Given the description of an element on the screen output the (x, y) to click on. 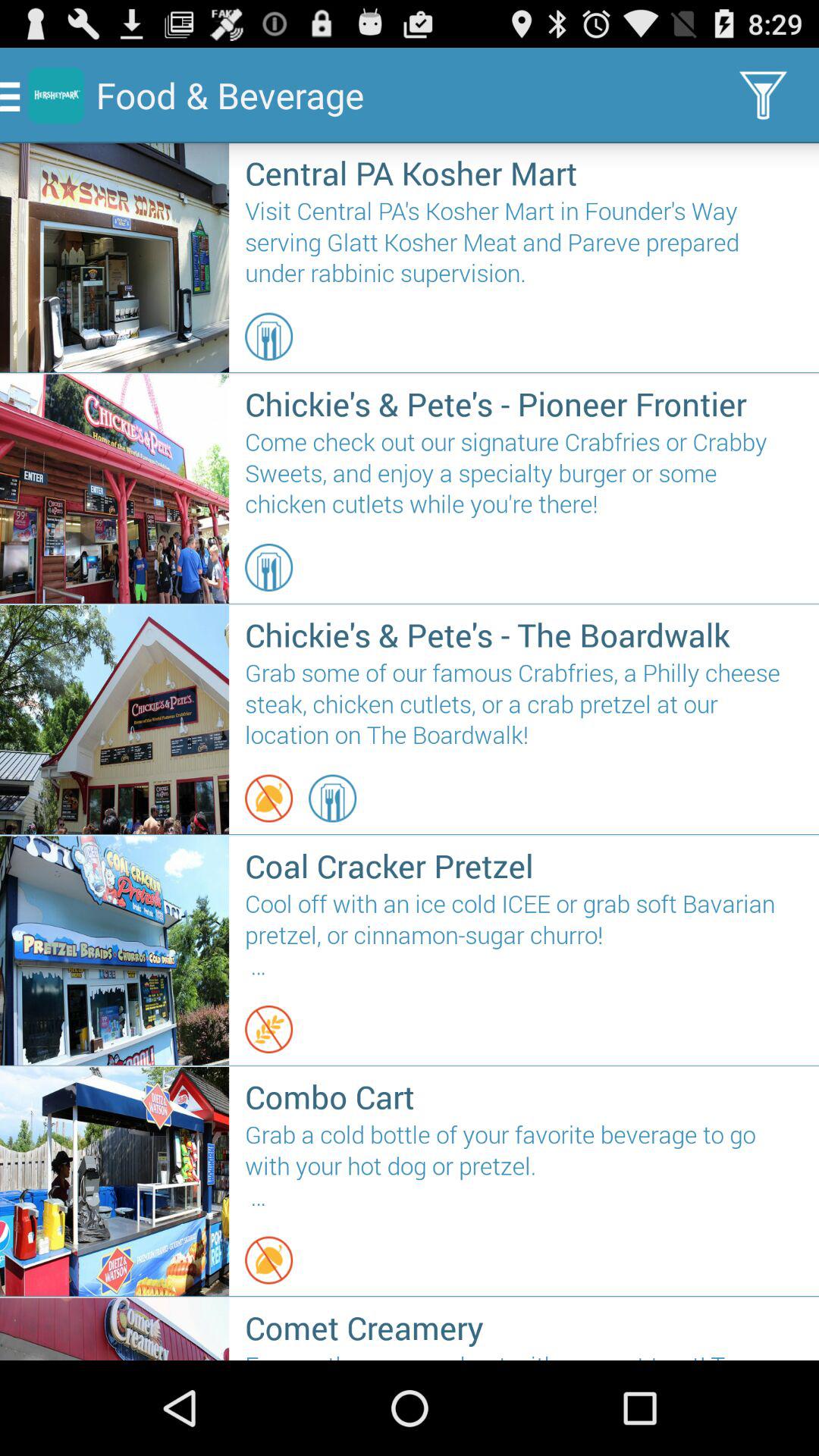
turn off item above chickie s pete item (268, 567)
